Given the description of an element on the screen output the (x, y) to click on. 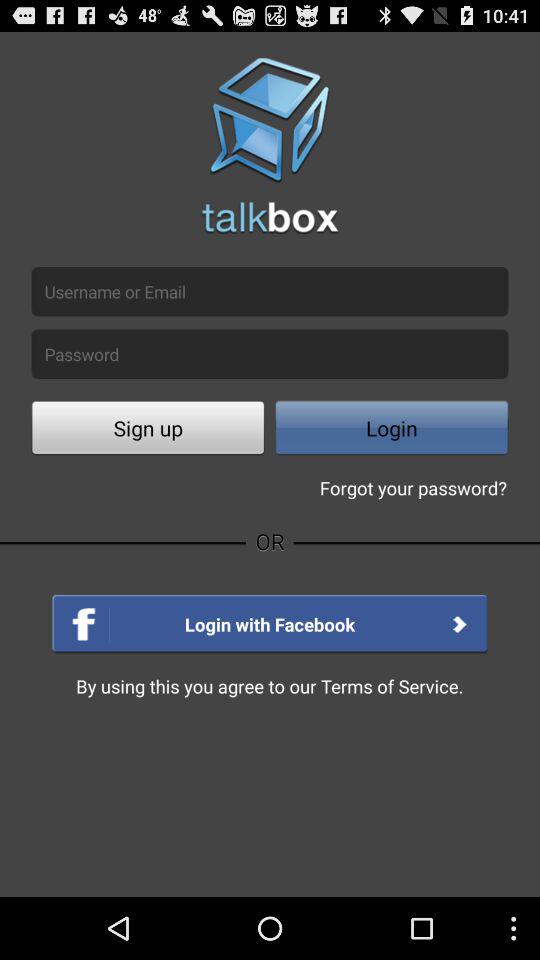
swipe to the forgot your password? icon (413, 487)
